Given the description of an element on the screen output the (x, y) to click on. 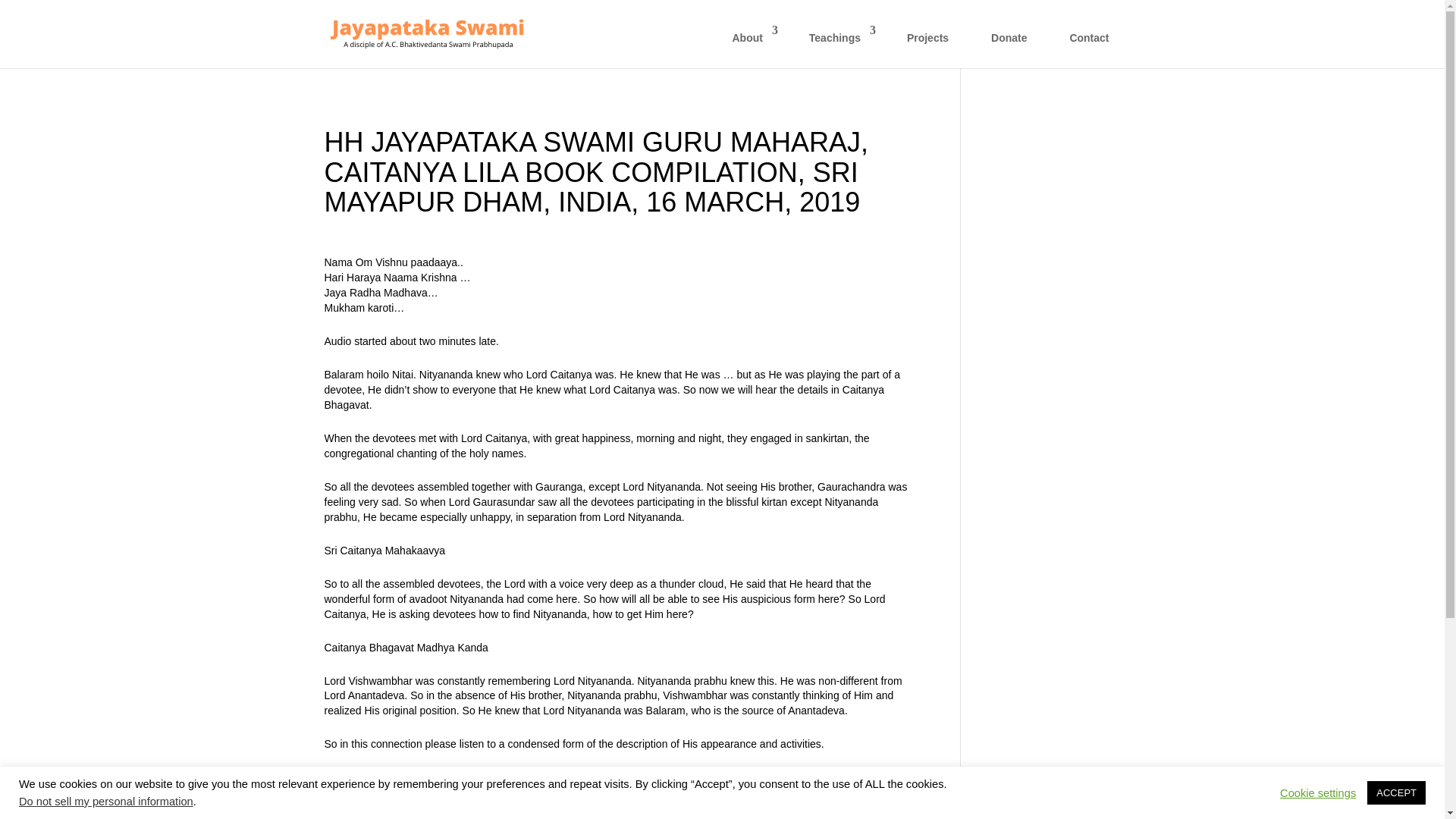
Cookie settings (1317, 792)
Donate (1008, 46)
Projects (927, 46)
Do not sell my personal information (105, 801)
ACCEPT (1396, 792)
About (748, 46)
Contact (1088, 46)
Teachings (836, 46)
